Given the description of an element on the screen output the (x, y) to click on. 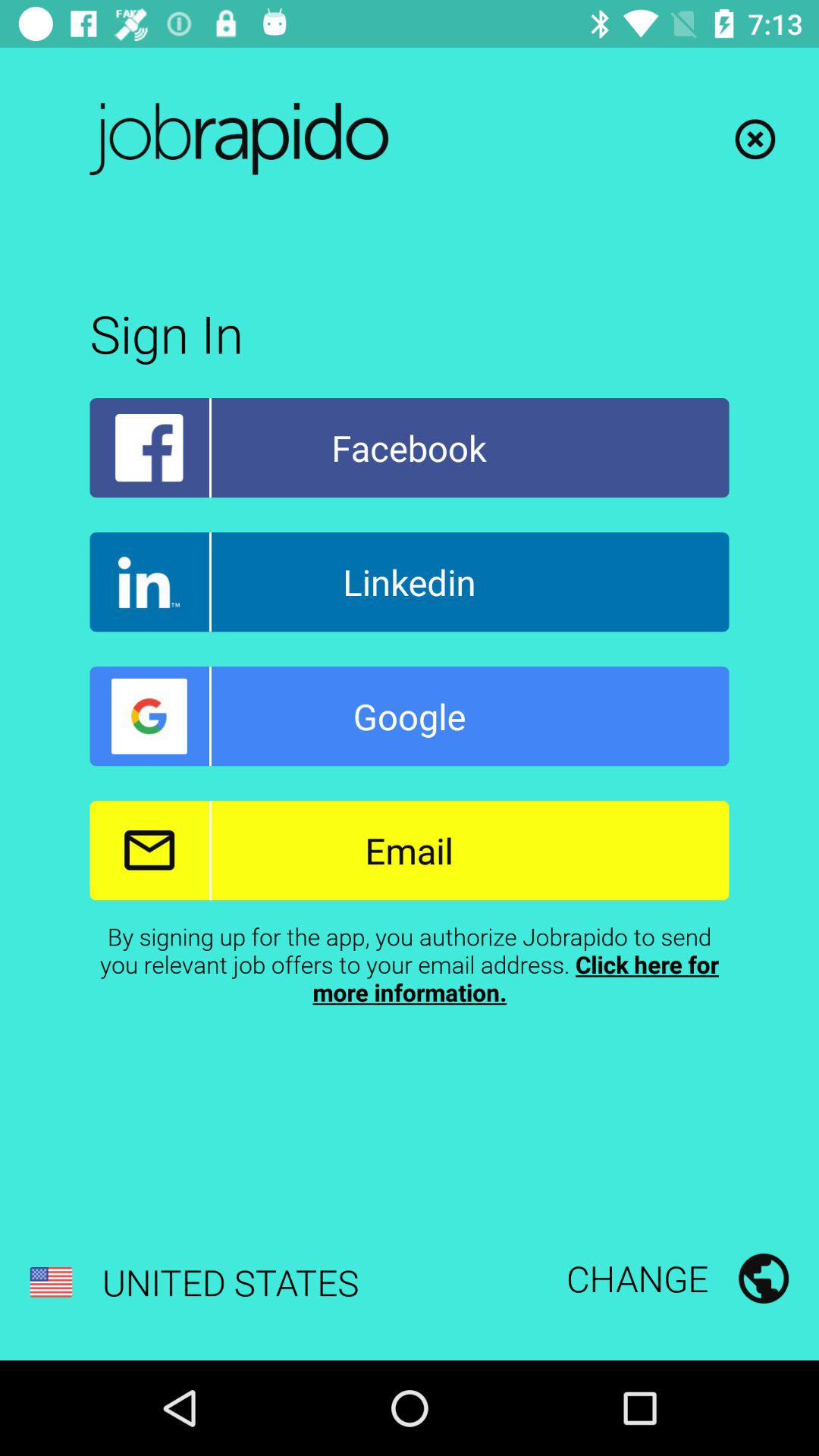
open the icon below by signing up icon (677, 1278)
